Given the description of an element on the screen output the (x, y) to click on. 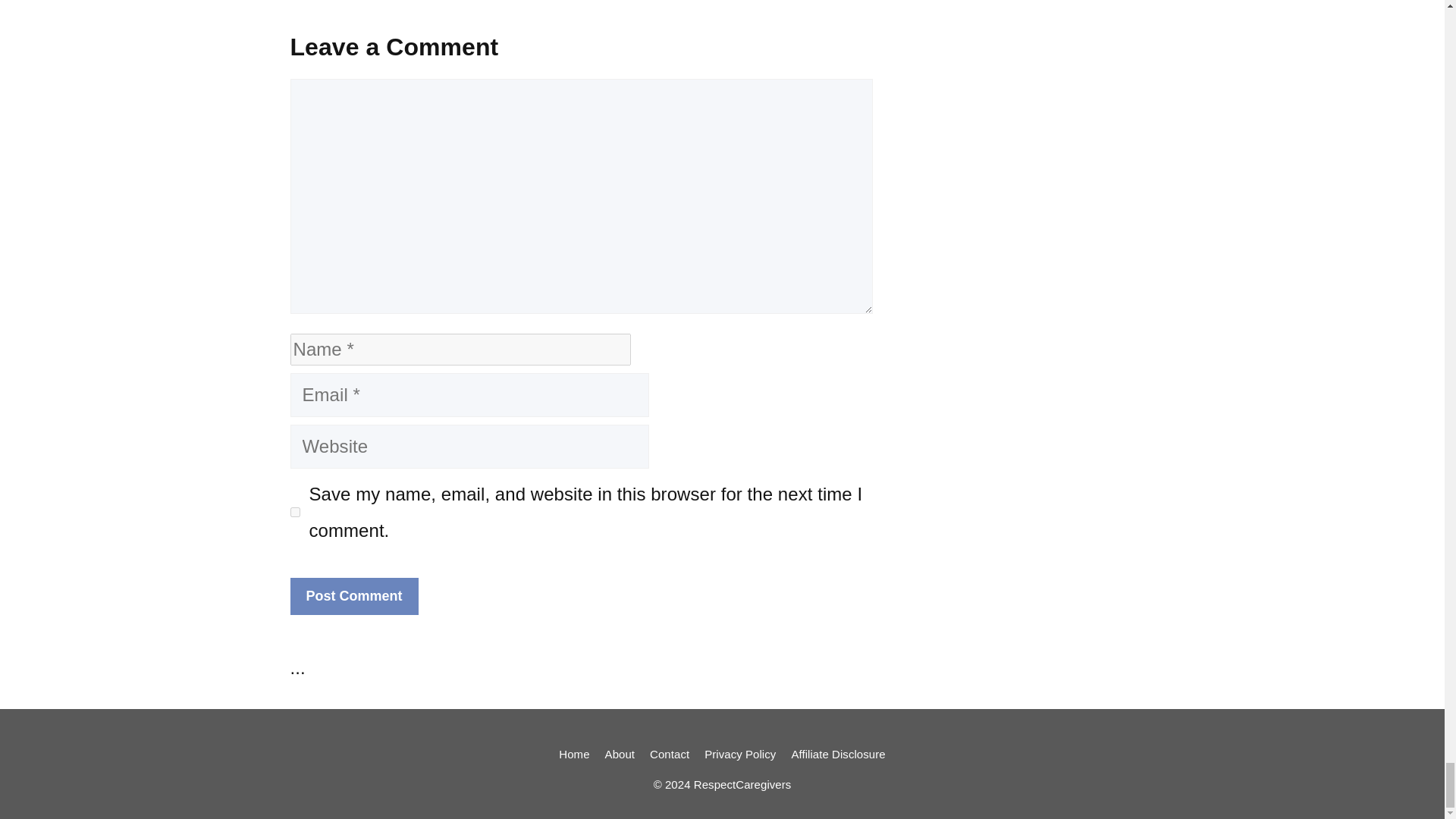
Post Comment (353, 596)
Home (574, 753)
Privacy Policy (740, 753)
Post Comment (353, 596)
yes (294, 511)
About (619, 753)
Affiliate Disclosure (837, 753)
Contact (668, 753)
